Given the description of an element on the screen output the (x, y) to click on. 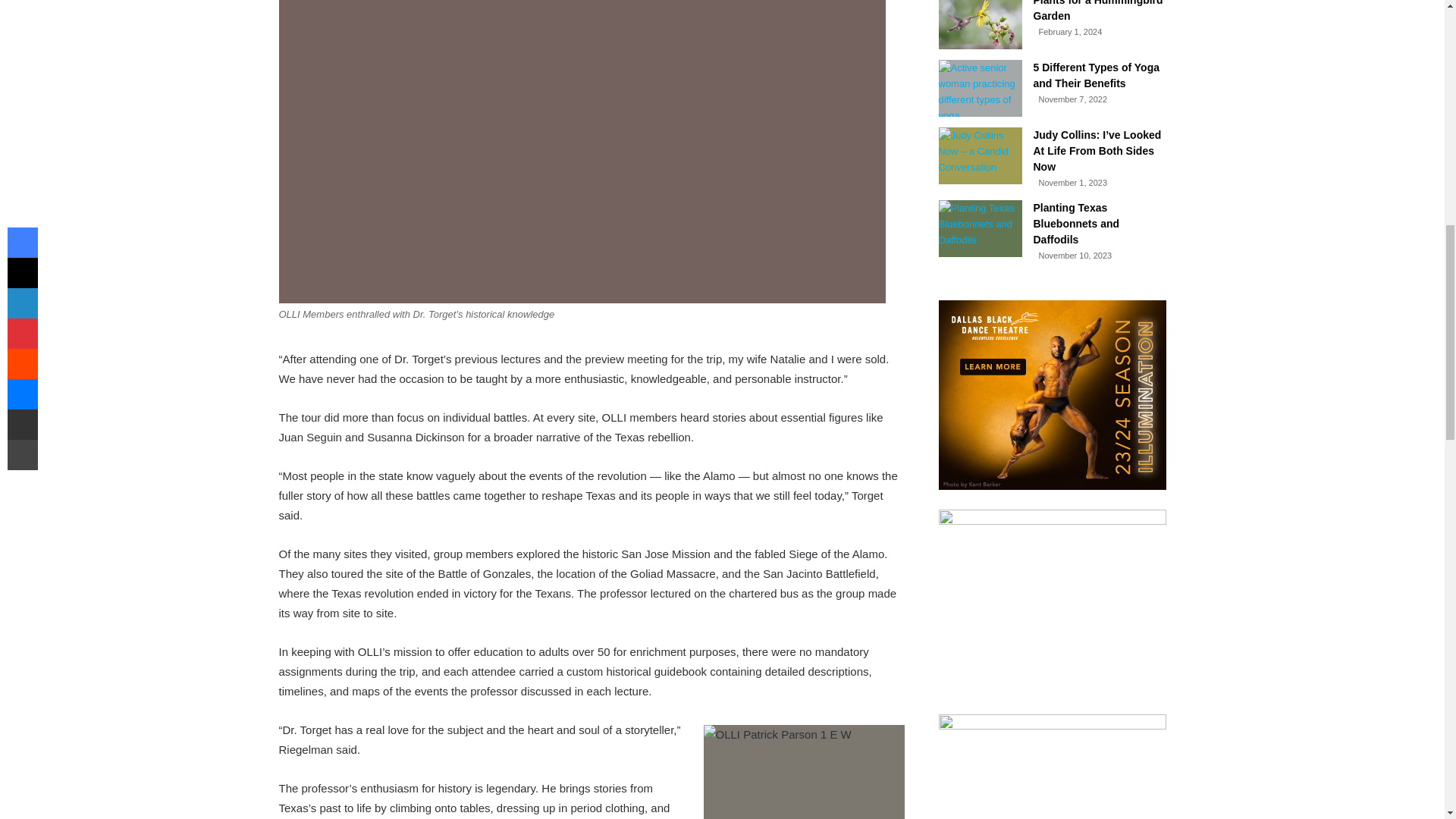
Plants for a Hummingbird Garden 8 (980, 24)
